Given the description of an element on the screen output the (x, y) to click on. 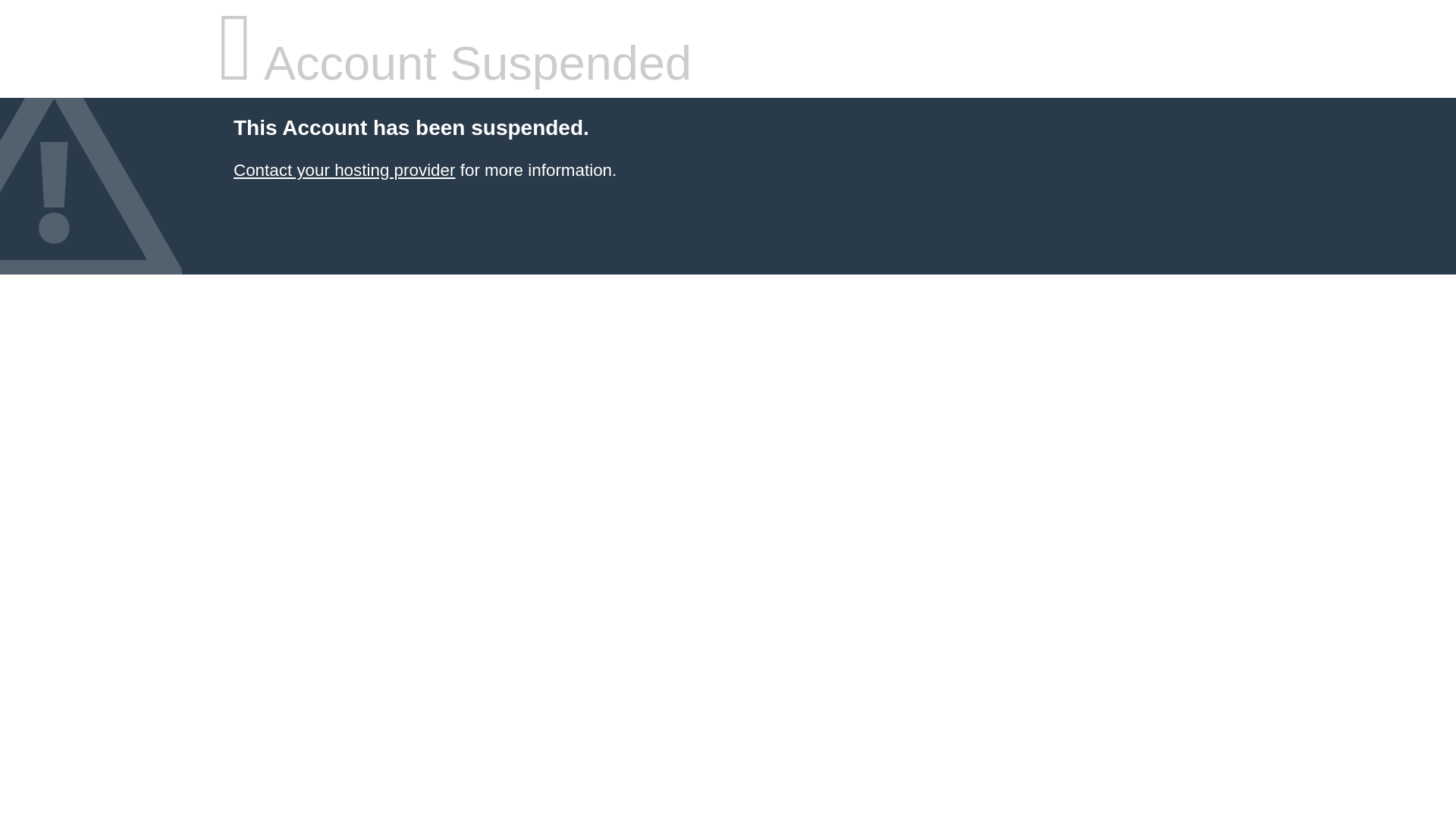
Contact your hosting provider (343, 169)
